Given the description of an element on the screen output the (x, y) to click on. 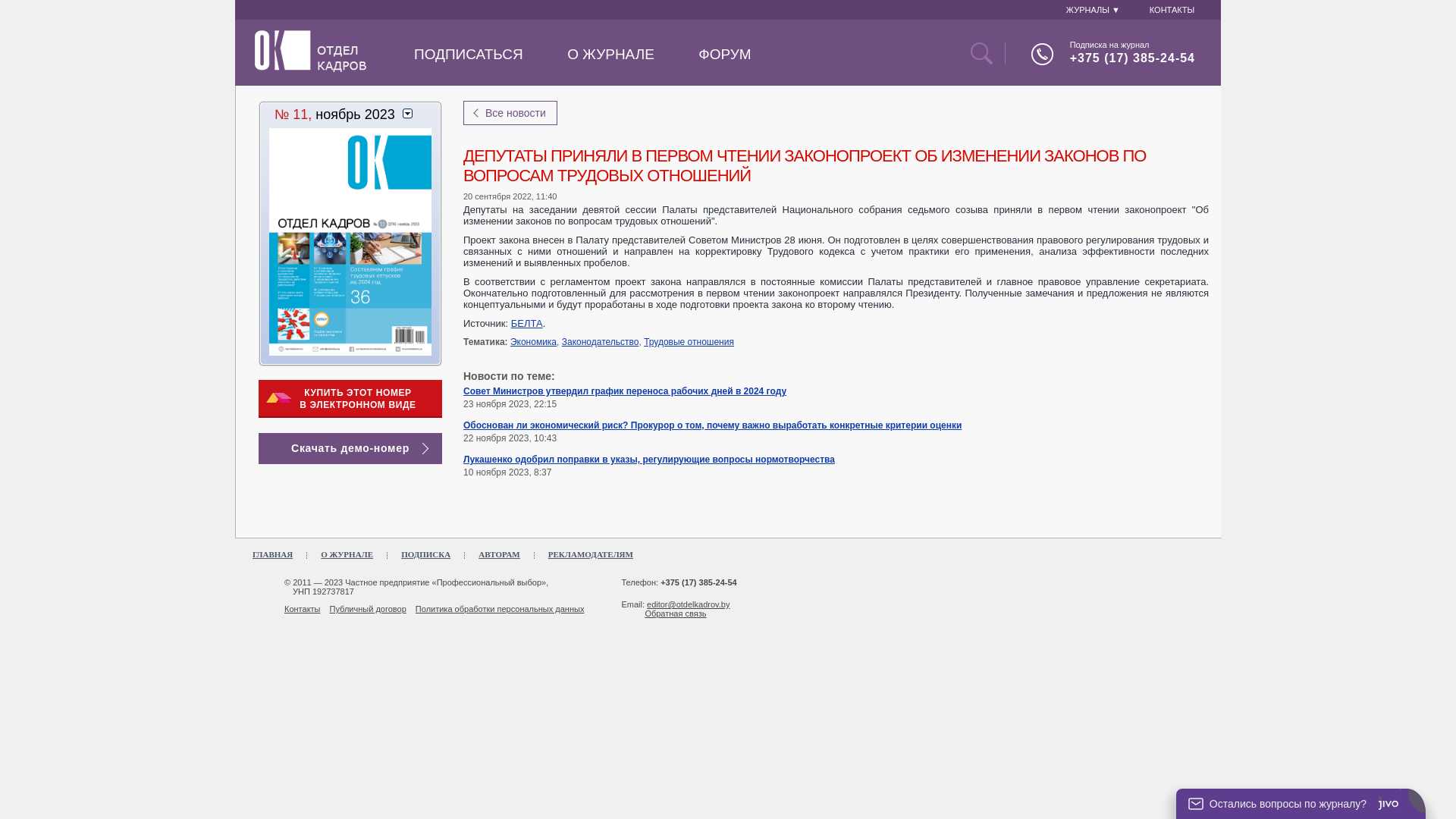
editor@otdelkadrov.by Element type: text (687, 603)
